Given the description of an element on the screen output the (x, y) to click on. 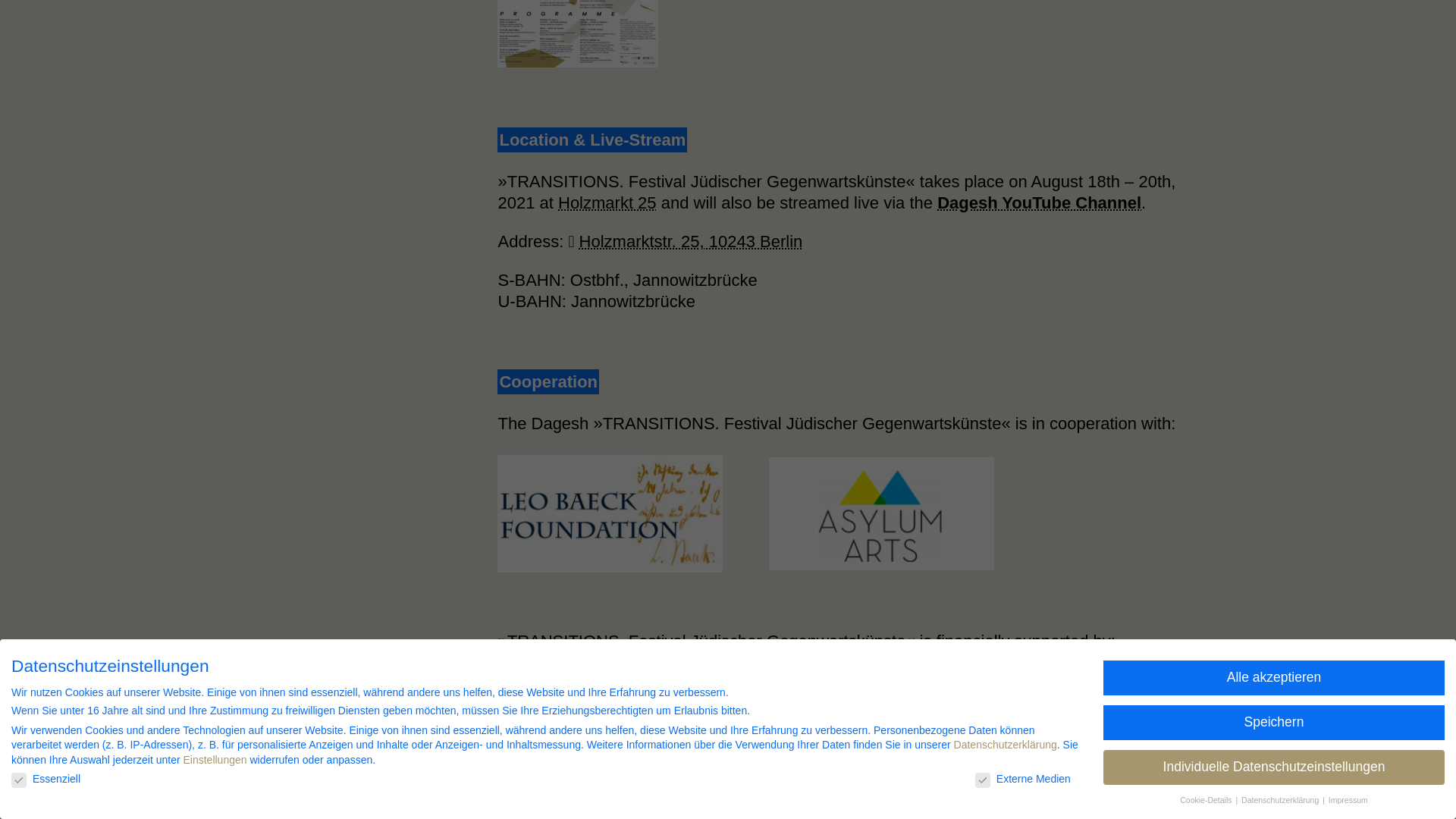
Holzmarkt 25 (606, 202)
Holzmarktstr. 25, 10243 Berlin (691, 240)
Dagesh YouTube Channel (1039, 202)
